Given the description of an element on the screen output the (x, y) to click on. 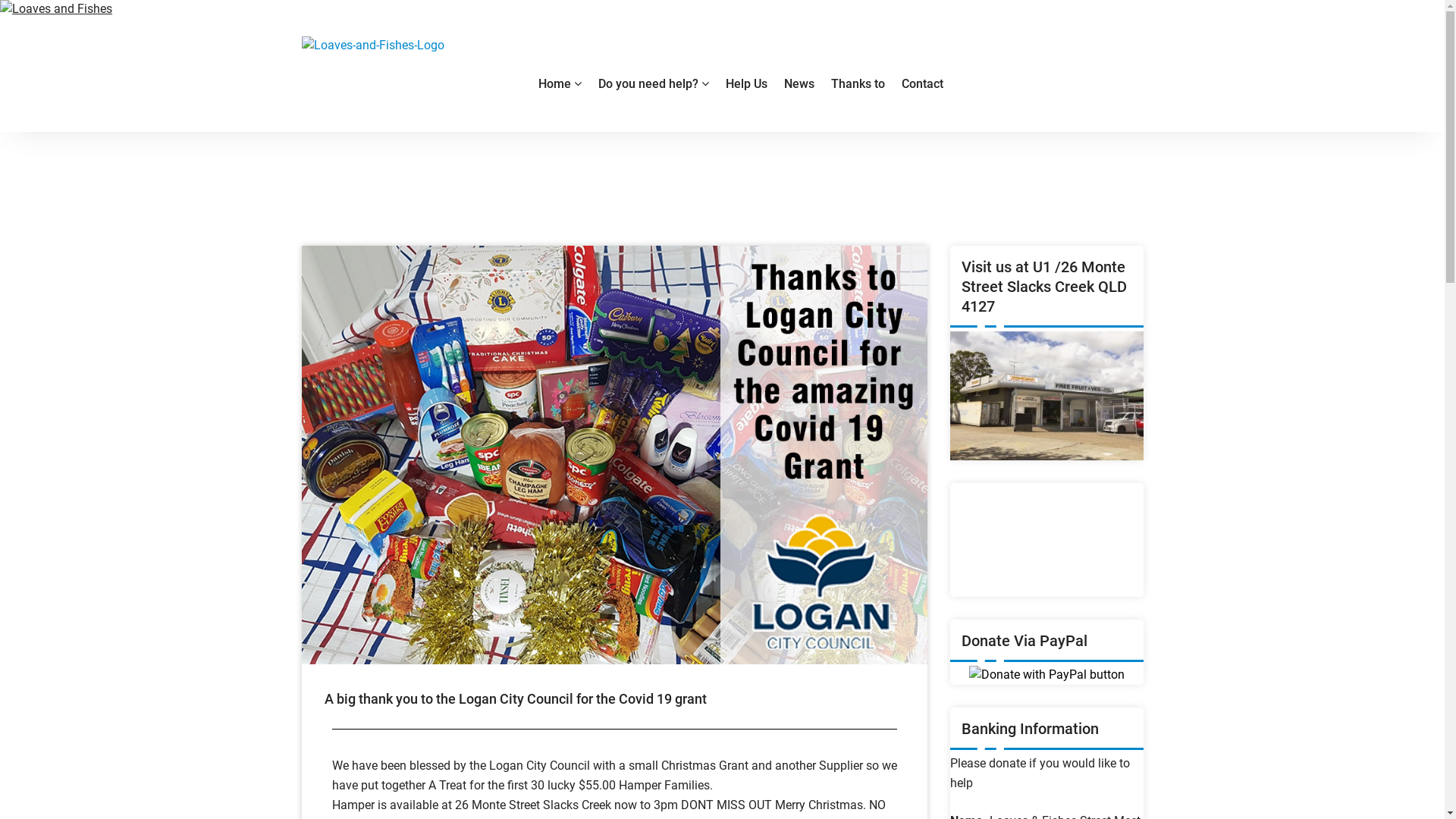
News Element type: text (798, 84)
Contact Element type: text (922, 84)
Thanks to Element type: text (857, 84)
PayPal - The safer, easier way to pay online! Element type: hover (1046, 674)
Do you need help? Element type: text (653, 84)
Home Element type: text (558, 84)
Help Us Element type: text (746, 84)
